Given the description of an element on the screen output the (x, y) to click on. 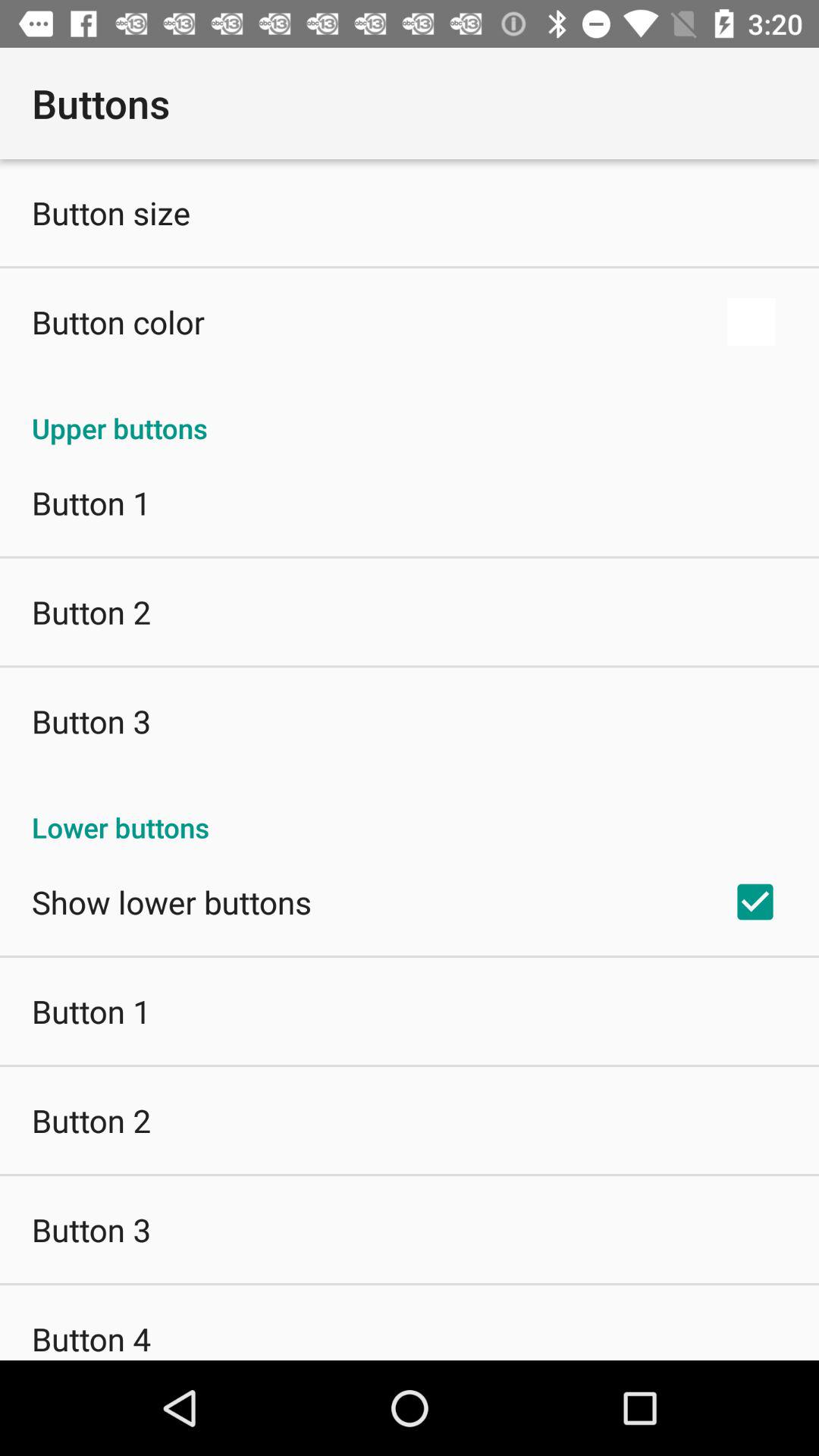
turn off app to the right of button color app (751, 321)
